Given the description of an element on the screen output the (x, y) to click on. 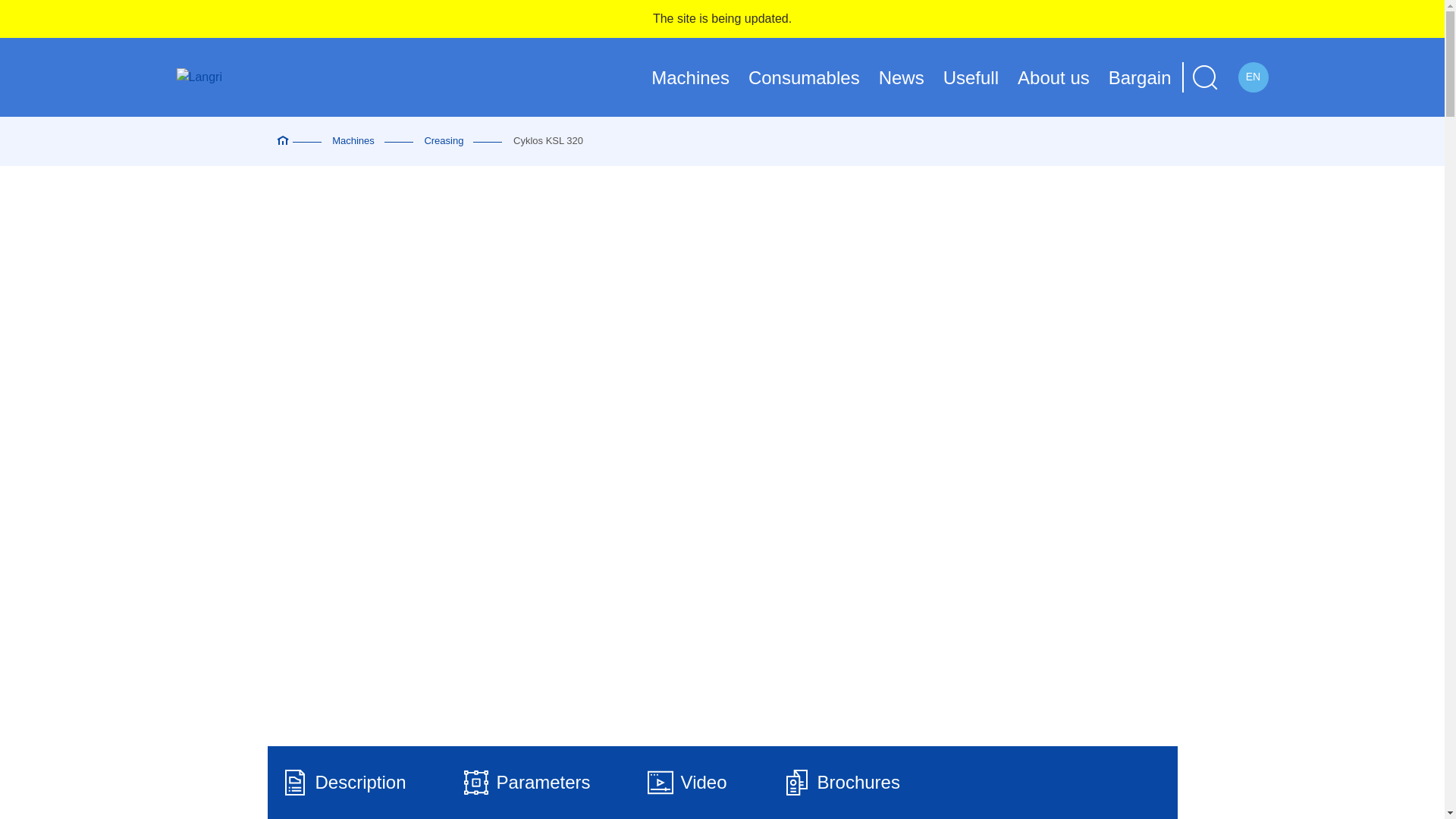
Parameters (553, 782)
Video (685, 782)
Parameters (526, 782)
Brochures (840, 782)
Machines (689, 77)
About us (721, 782)
Video (721, 782)
Description (1053, 77)
